Given the description of an element on the screen output the (x, y) to click on. 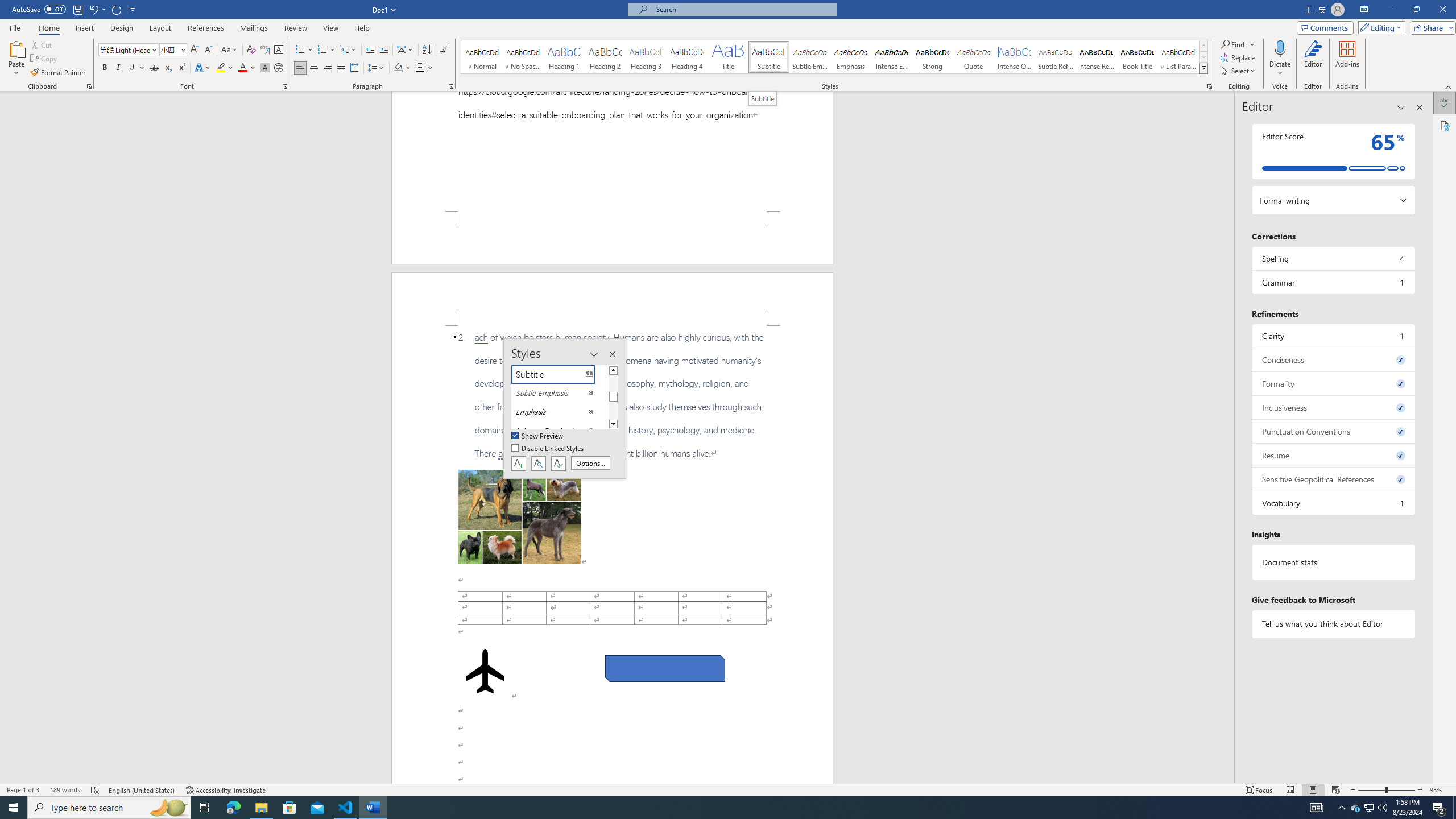
Collapse the Ribbon (1448, 86)
Airplane with solid fill (485, 670)
Align Left (300, 67)
Bold (104, 67)
Dictate (1280, 58)
Web Layout (1335, 790)
Grow Font (193, 49)
AutomationID: QuickStylesGallery (834, 56)
Footer -Section 1- (611, 237)
Intense Quote (1014, 56)
Strikethrough (154, 67)
Line and Paragraph Spacing (376, 67)
Styles (1203, 67)
Copy (45, 58)
